Given the description of an element on the screen output the (x, y) to click on. 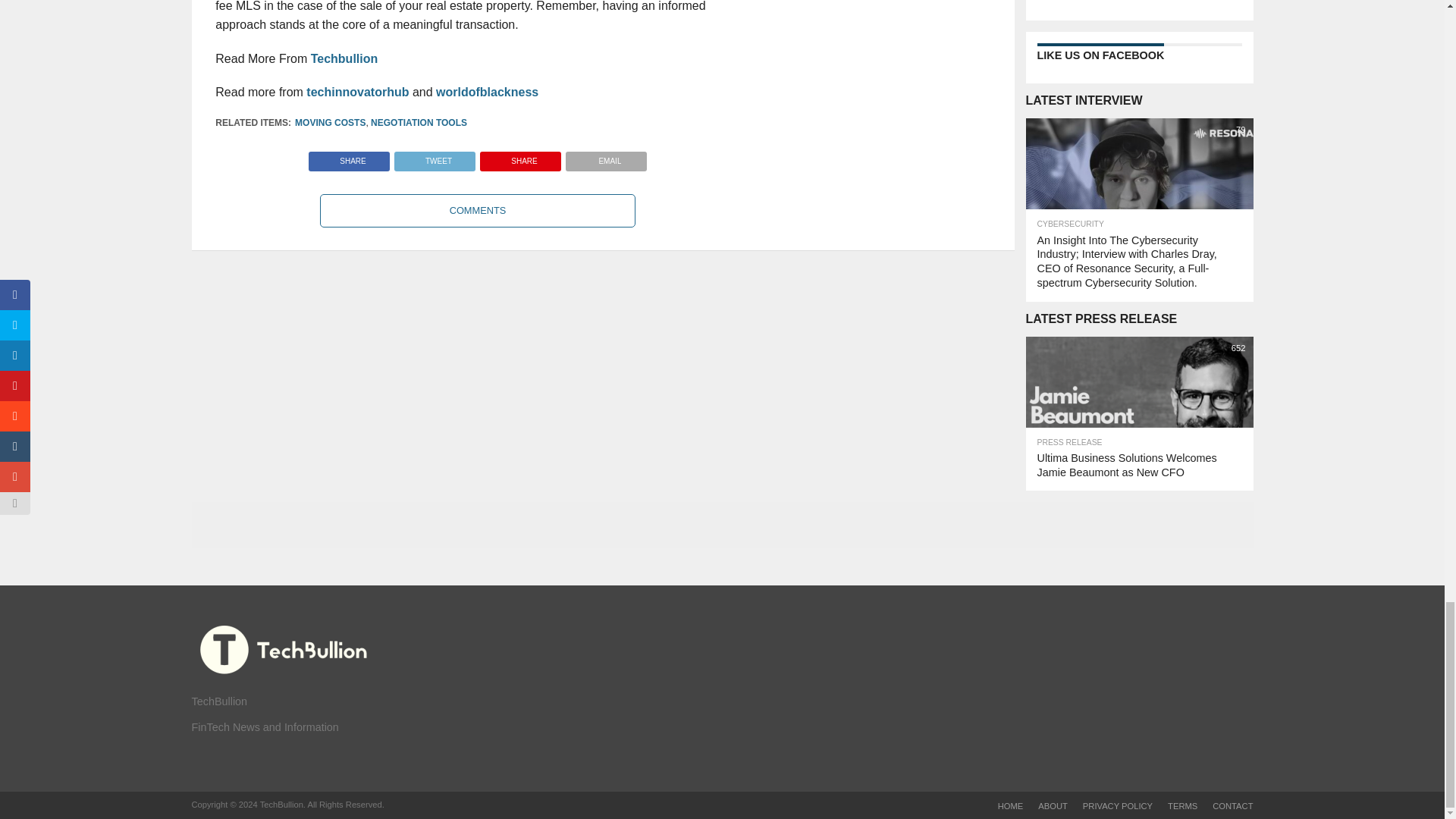
Tweet This Post (434, 156)
Share on Facebook (349, 156)
Pin This Post (520, 156)
